Given the description of an element on the screen output the (x, y) to click on. 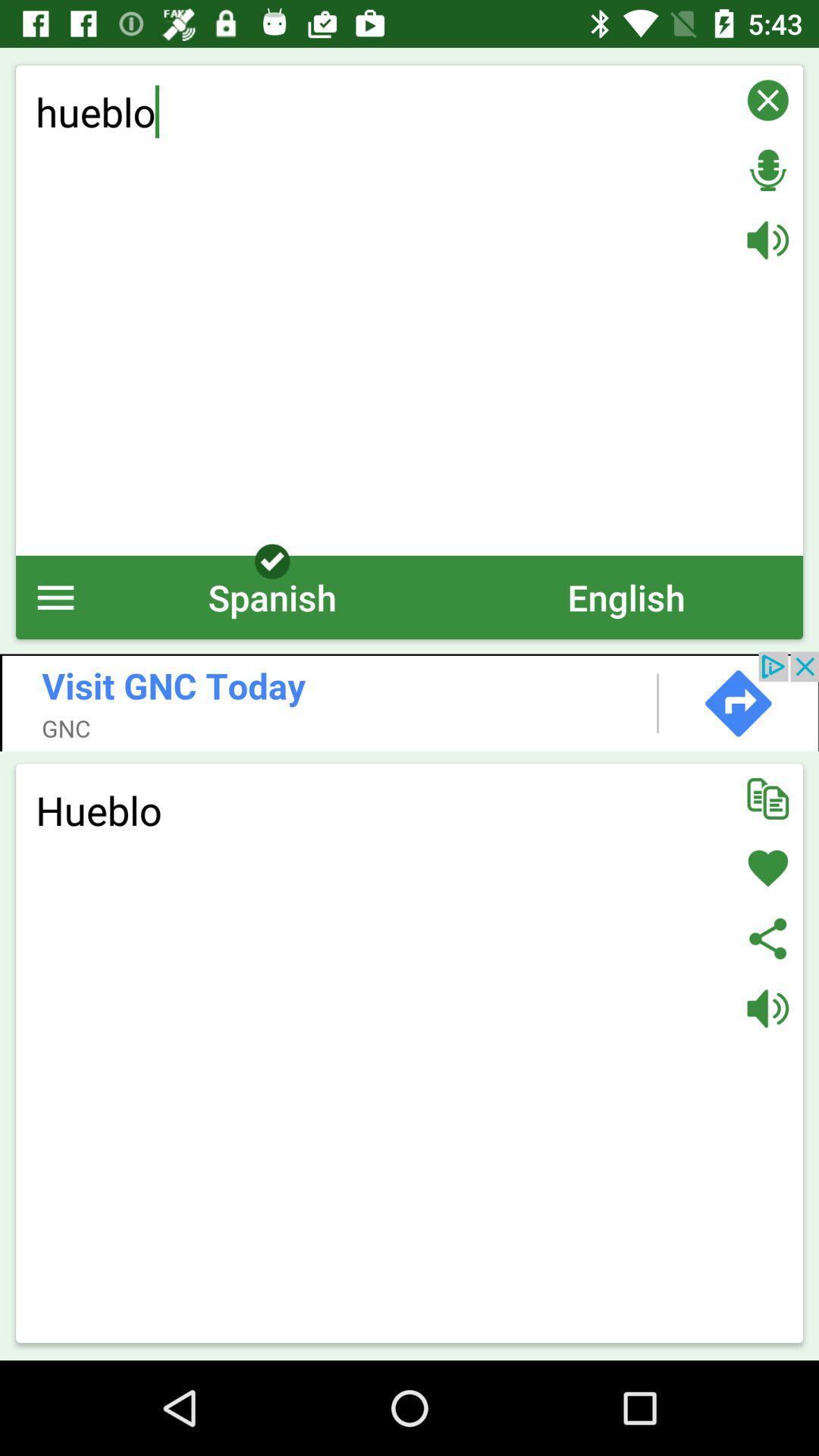
turn up the volume (768, 240)
